Given the description of an element on the screen output the (x, y) to click on. 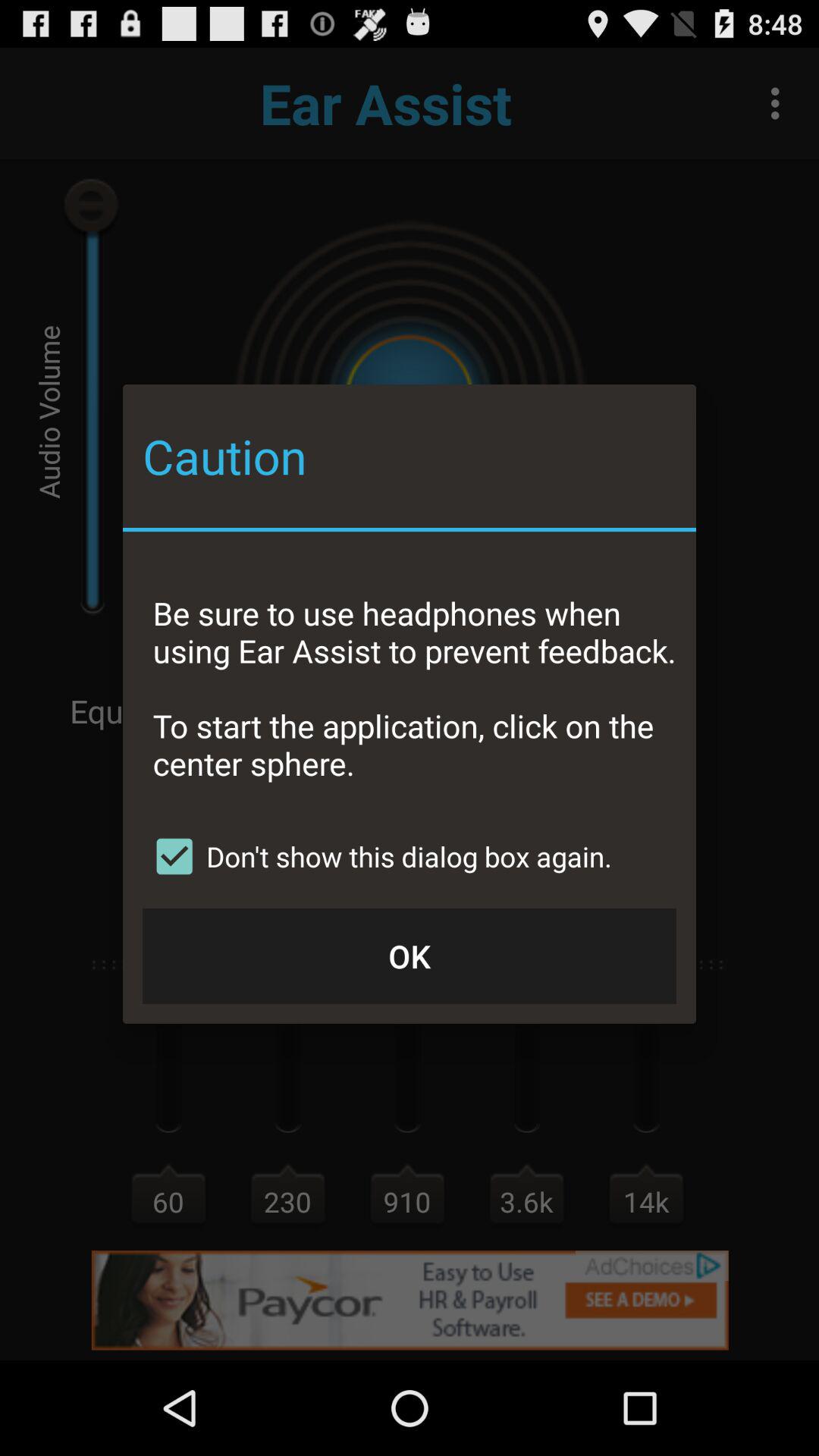
open don t show item (376, 856)
